Given the description of an element on the screen output the (x, y) to click on. 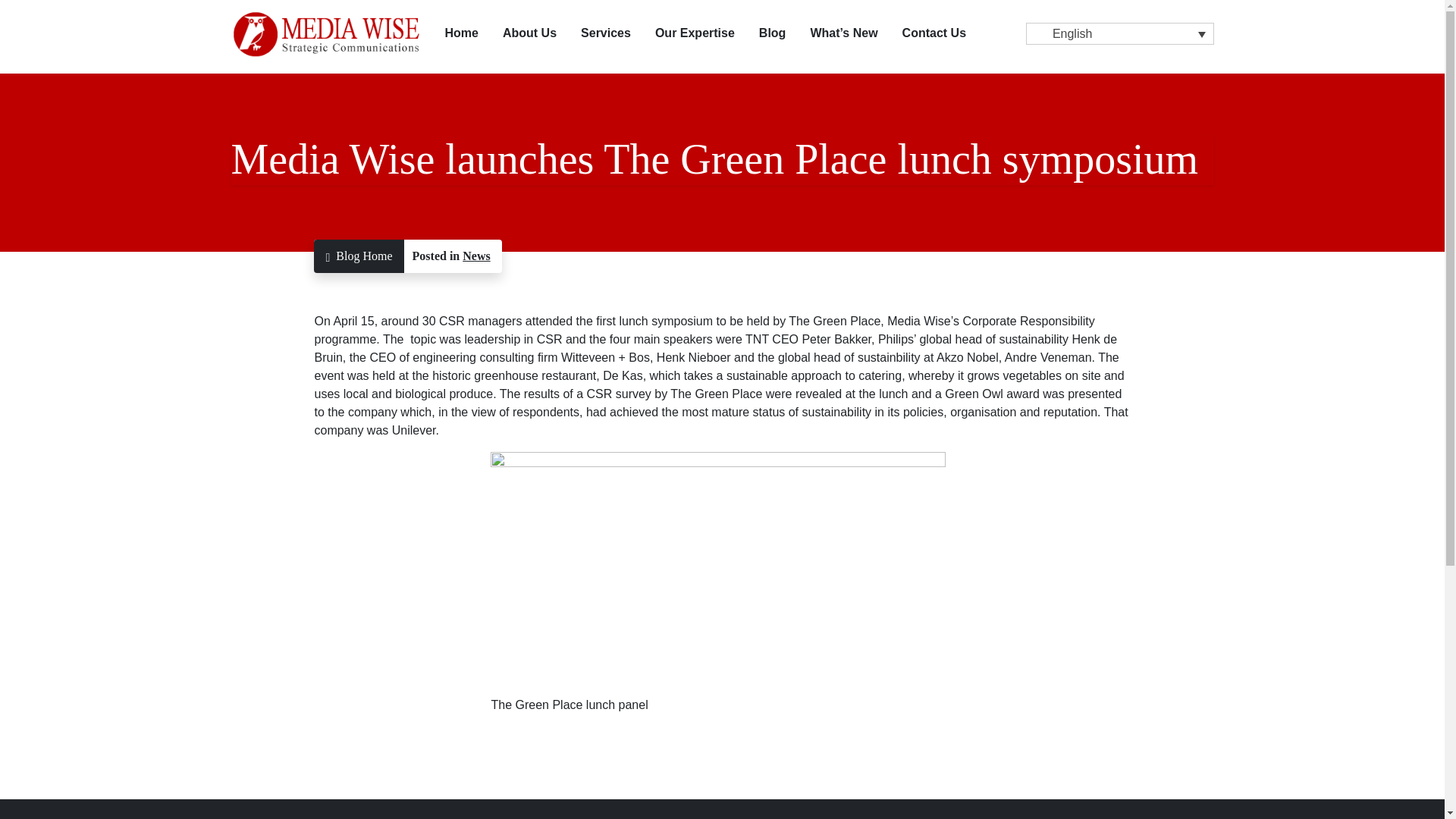
About Us (529, 33)
English (1118, 33)
News (476, 255)
Blog (771, 33)
Our Expertise (694, 33)
Contact Us (933, 33)
Services (606, 33)
Blog Home (358, 255)
Home (460, 33)
GreenPlaceLunch copy (717, 574)
